Given the description of an element on the screen output the (x, y) to click on. 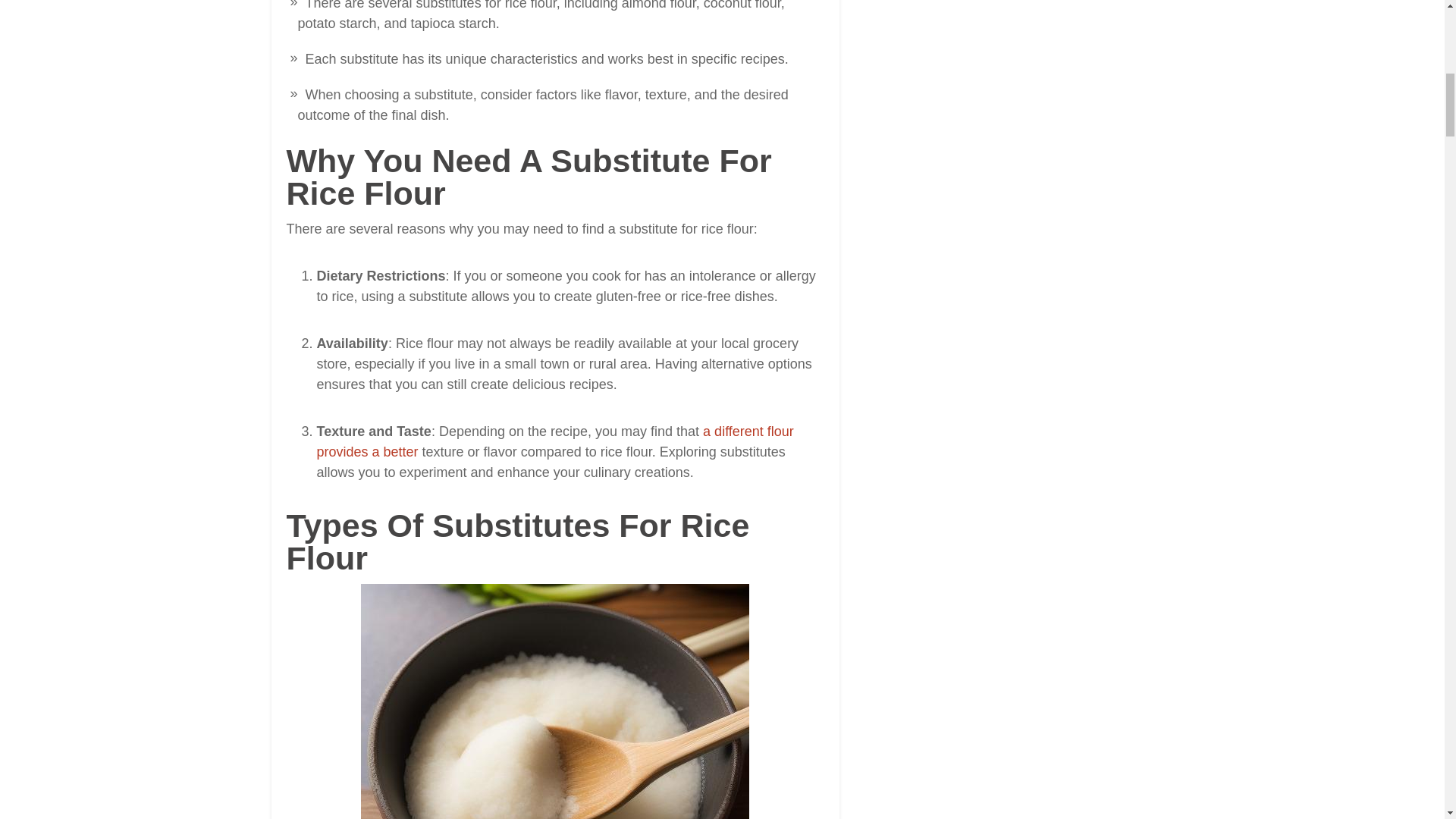
a different flour provides a better (555, 441)
